Given the description of an element on the screen output the (x, y) to click on. 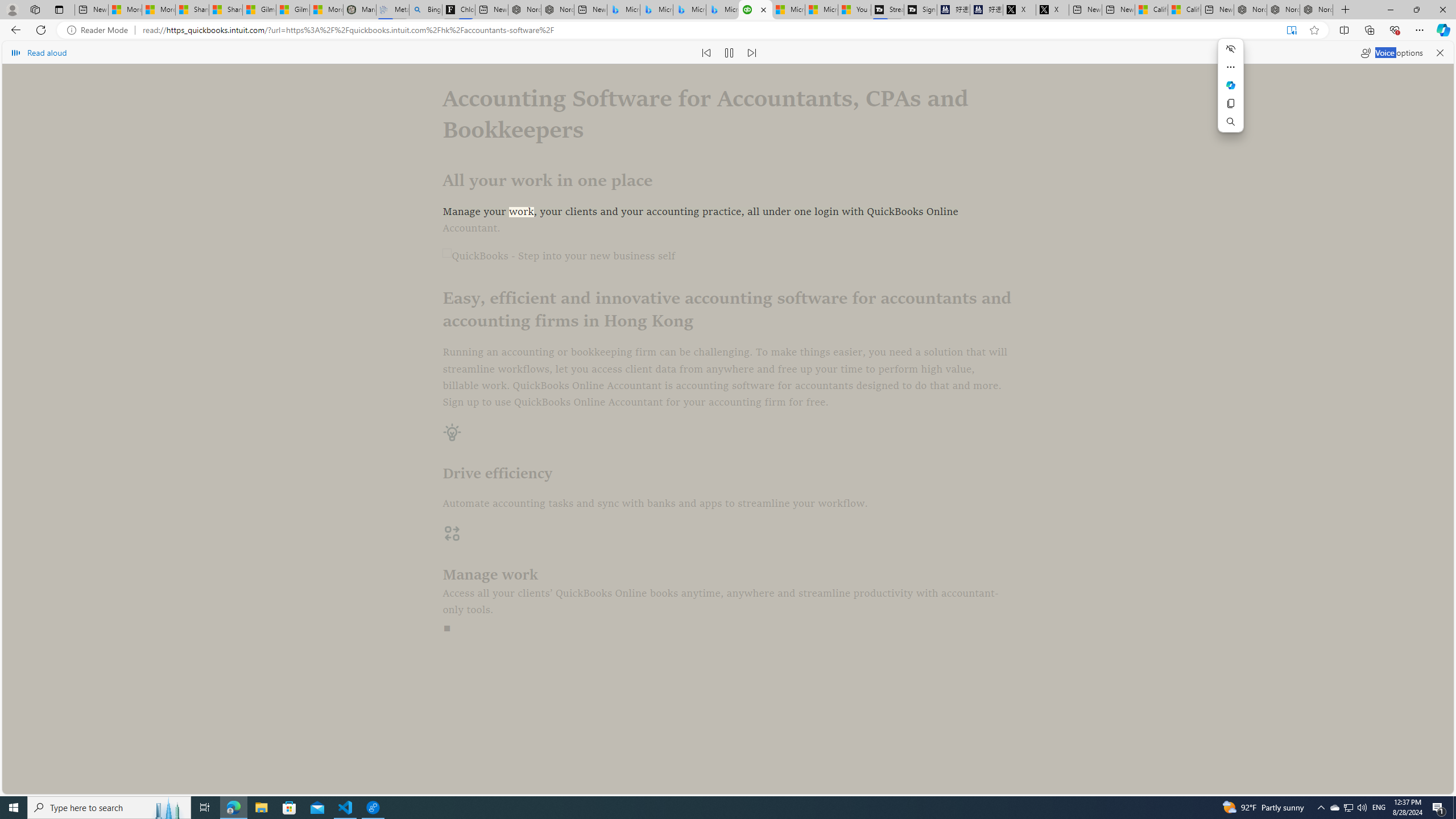
Mini menu on text selection (1230, 91)
Bing Real Estate - Home sales and rental listings (425, 9)
Close read aloud (1439, 52)
Ask Copilot (1230, 85)
Microsoft Bing Travel - Stays in Bangkok, Bangkok, Thailand (656, 9)
Chloe Sorvino (458, 9)
Copy (1230, 103)
Reader Mode (100, 29)
Voice options (1391, 52)
